Given the description of an element on the screen output the (x, y) to click on. 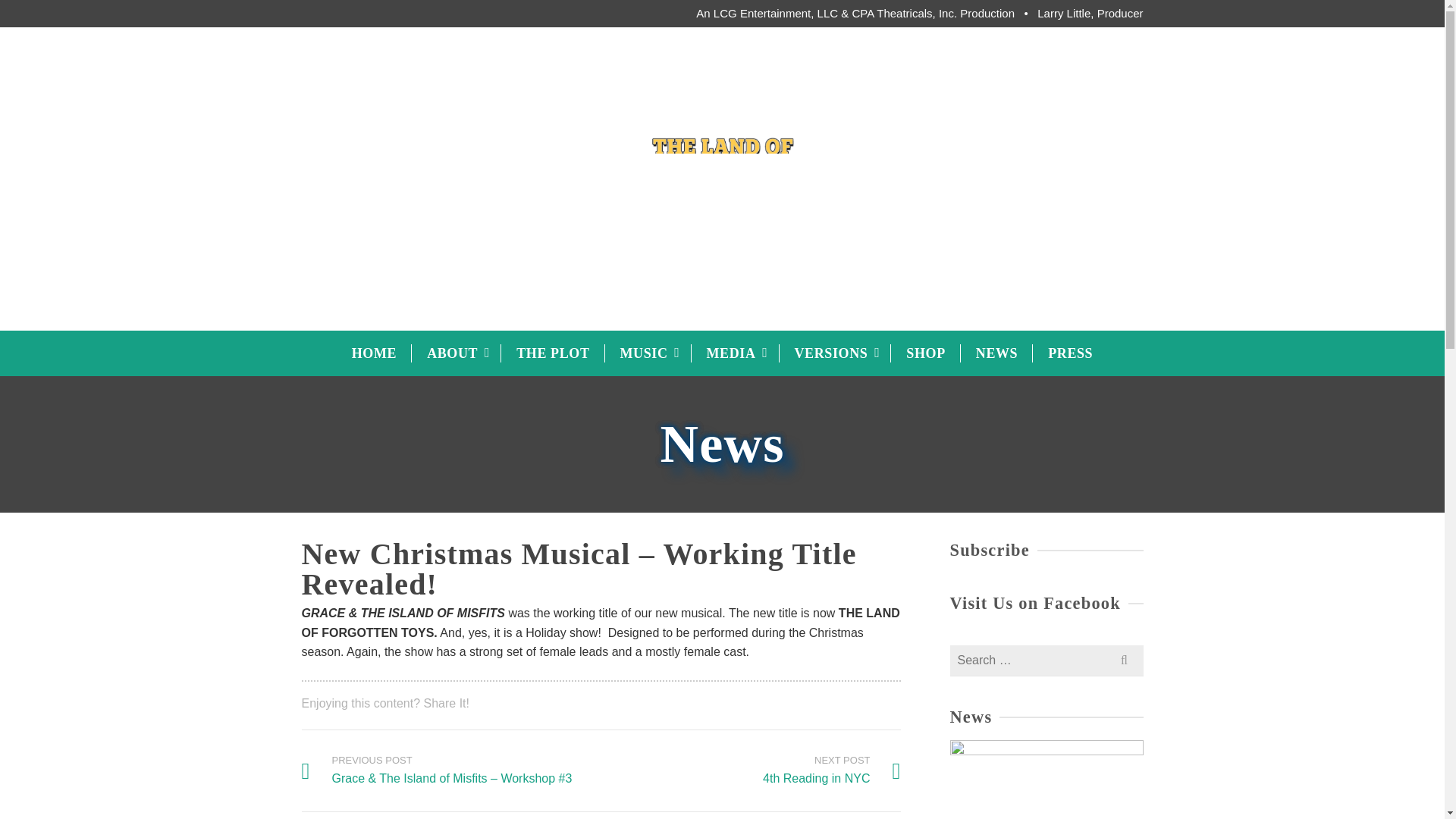
MUSIC (648, 352)
MEDIA (734, 352)
THE PLOT (552, 352)
SHOP (925, 352)
ABOUT (830, 769)
HOME (456, 352)
VERSIONS (374, 352)
NEWS (834, 352)
PRESS (996, 352)
